Given the description of an element on the screen output the (x, y) to click on. 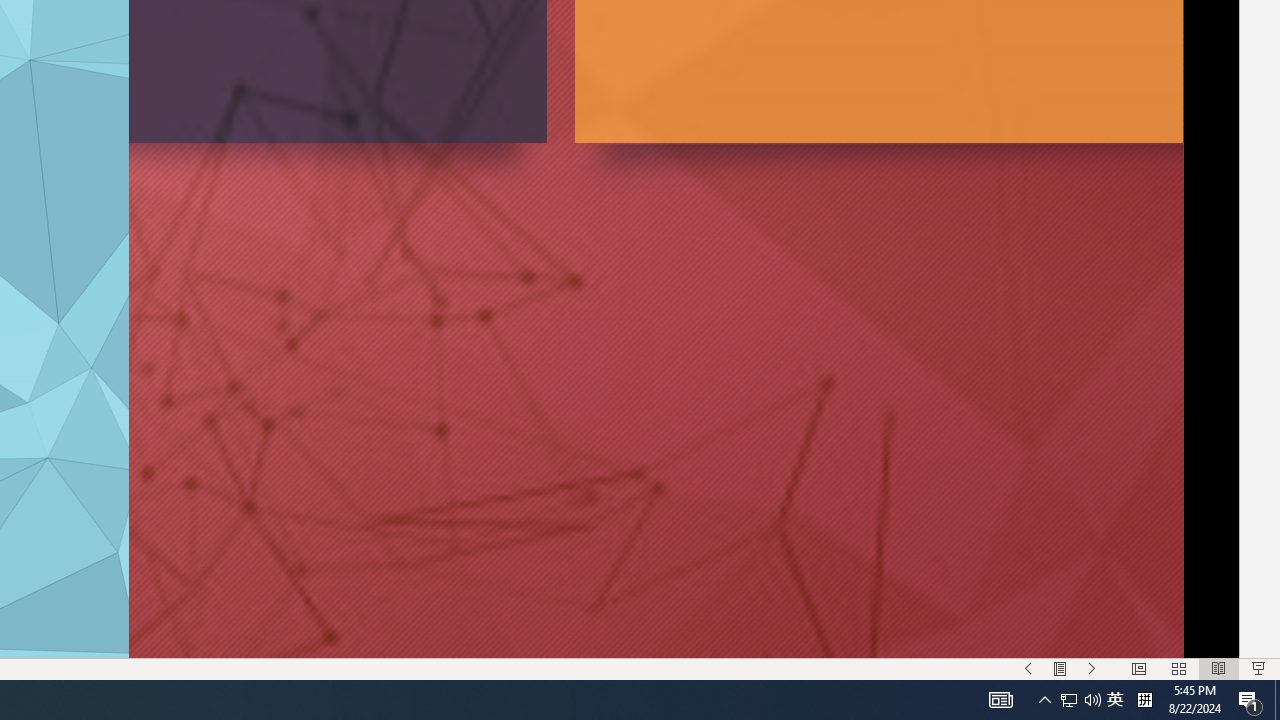
Slide Show Previous On (1028, 668)
Slide Show Next On (1092, 668)
Menu On (1060, 668)
